Given the description of an element on the screen output the (x, y) to click on. 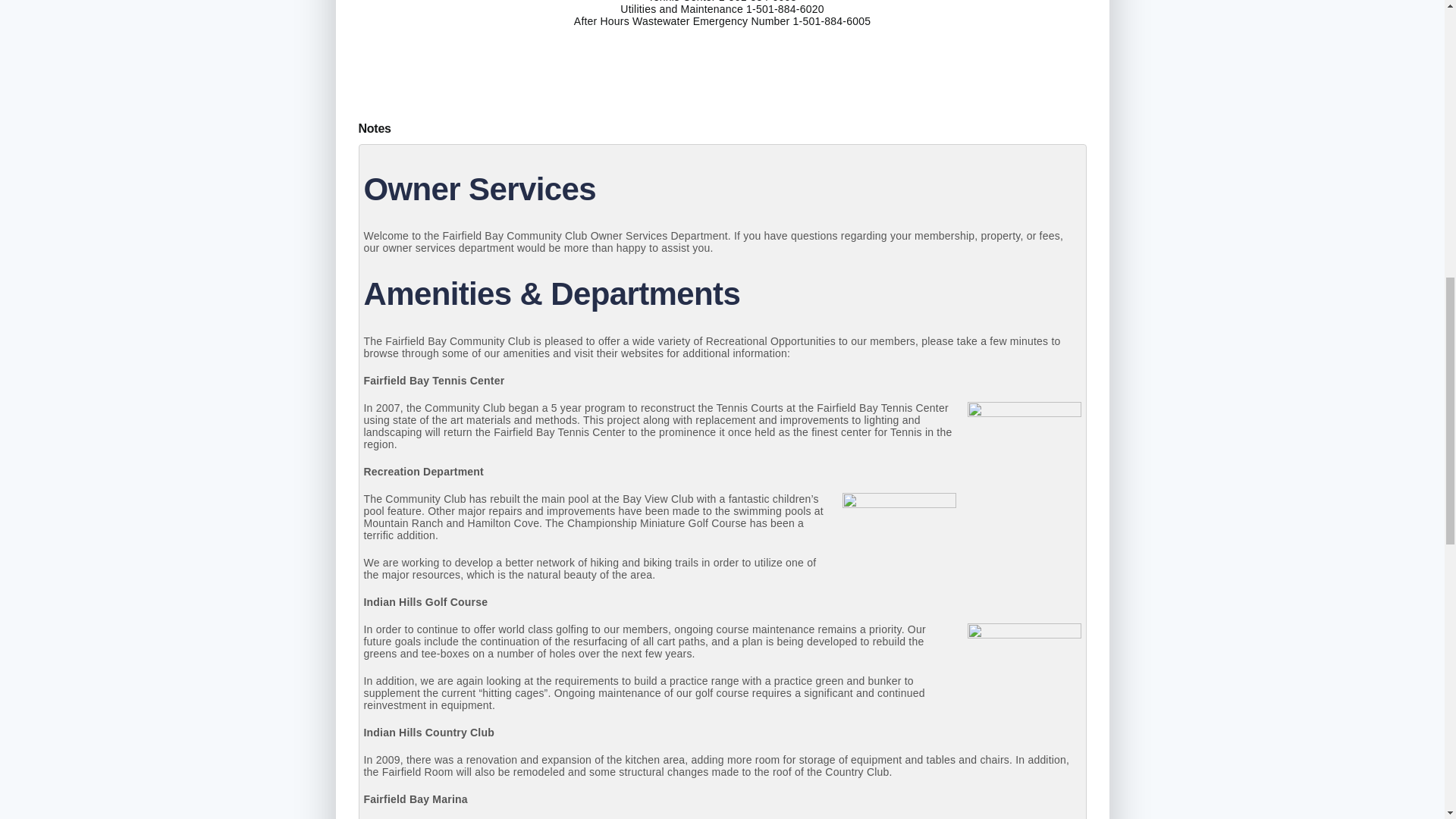
recreation (898, 549)
tennis (1024, 458)
indianhillsgc (1024, 680)
